Given the description of an element on the screen output the (x, y) to click on. 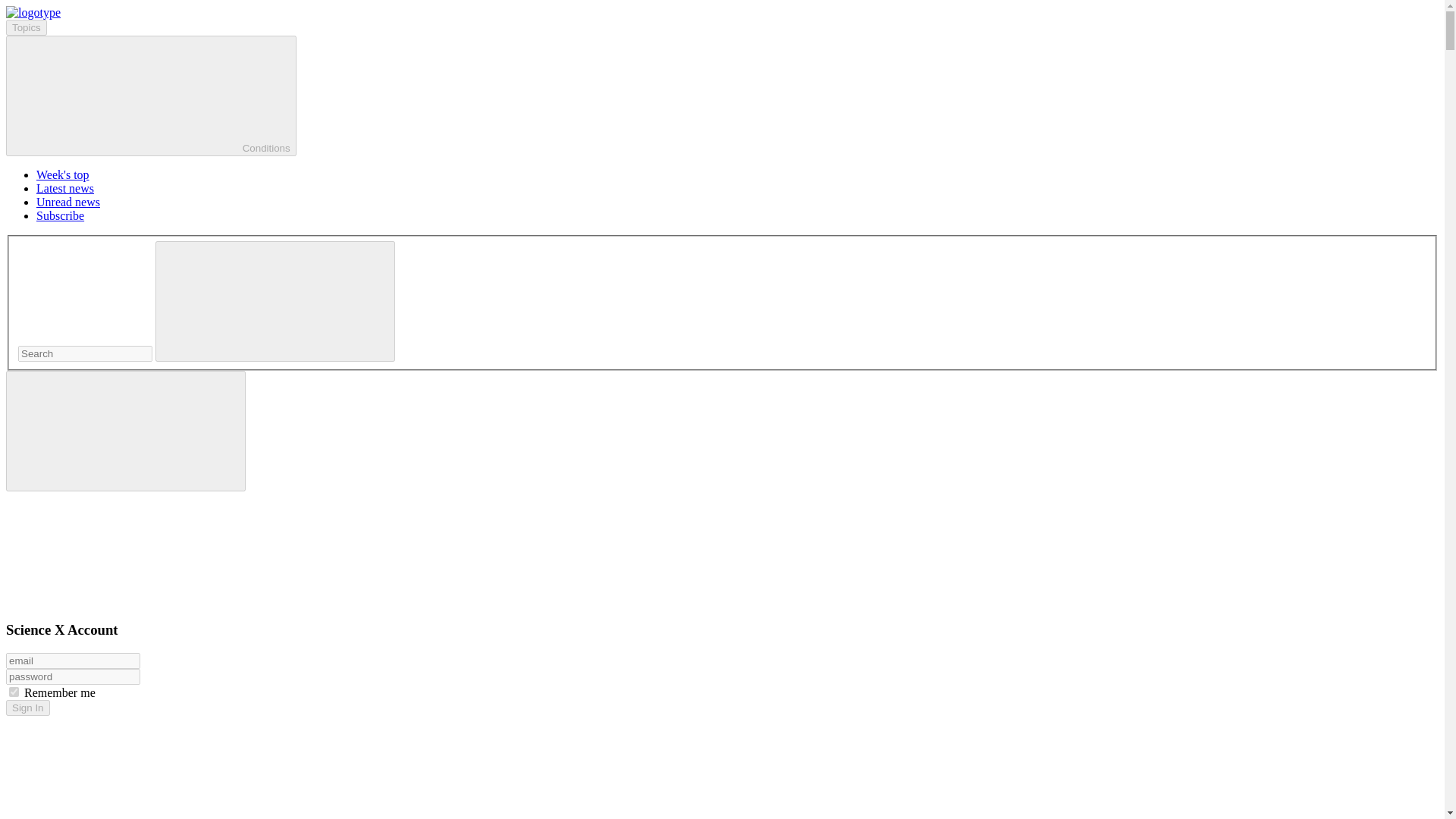
Latest news (65, 187)
Topics (25, 27)
Subscribe (60, 215)
on (13, 691)
Week's top (62, 174)
Unread news (68, 201)
Conditions (151, 96)
Sign In (27, 707)
